Given the description of an element on the screen output the (x, y) to click on. 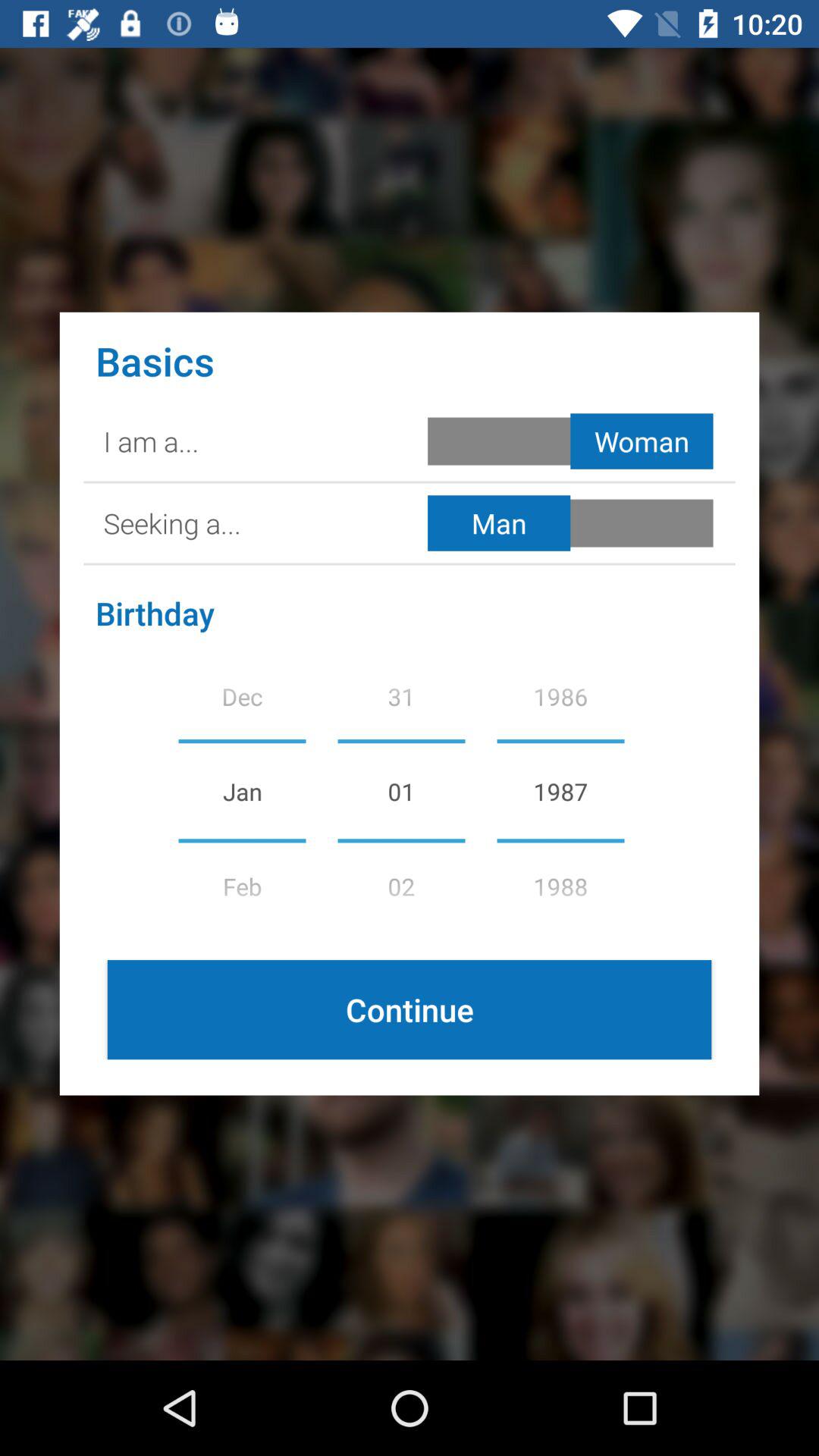
gender option (573, 441)
